Given the description of an element on the screen output the (x, y) to click on. 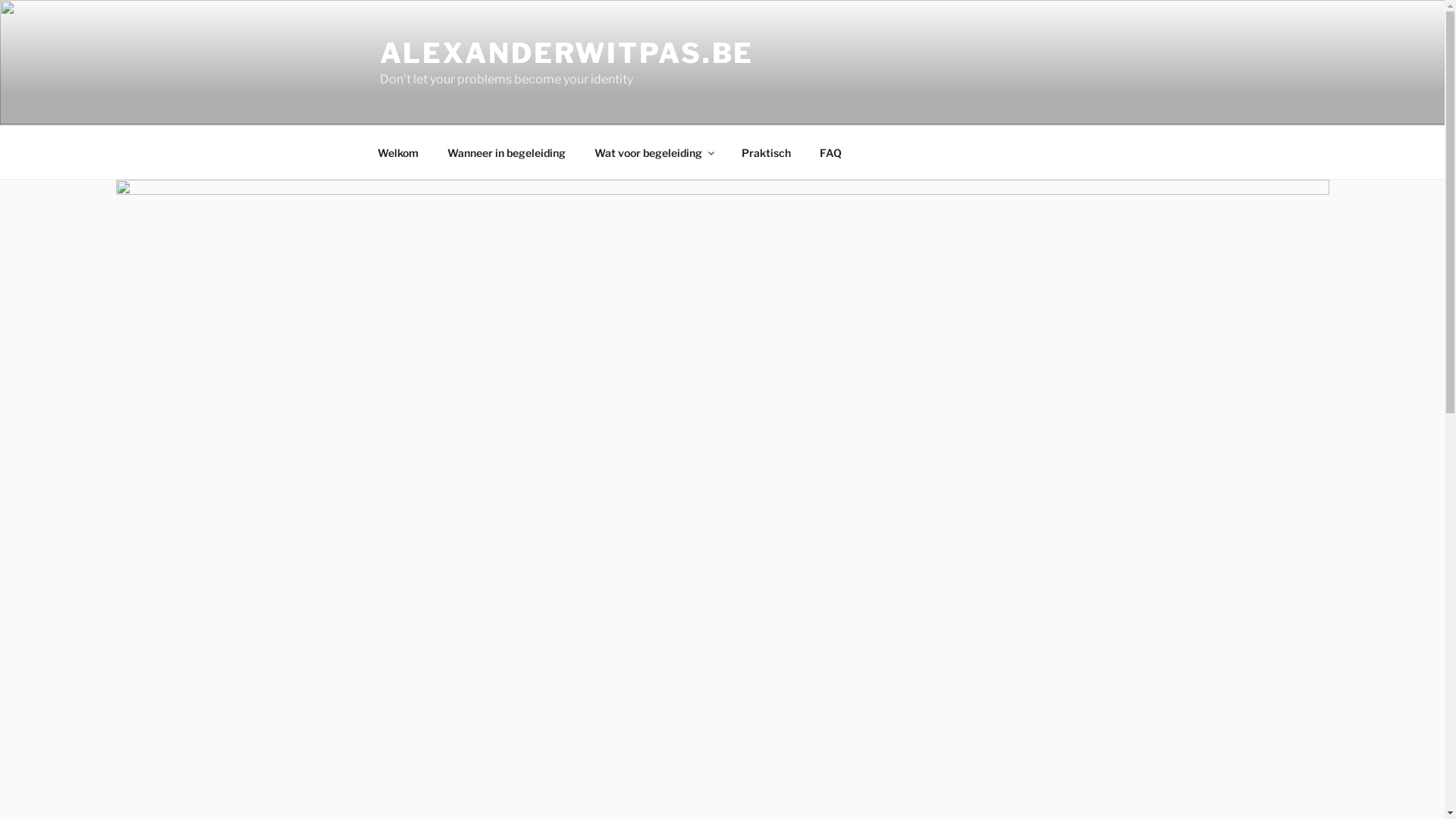
ALEXANDERWITPAS.BE Element type: text (566, 52)
Wanneer in begeleiding Element type: text (505, 151)
FAQ Element type: text (830, 151)
Praktisch Element type: text (765, 151)
Wat voor begeleiding Element type: text (652, 151)
Welkom Element type: text (397, 151)
